Given the description of an element on the screen output the (x, y) to click on. 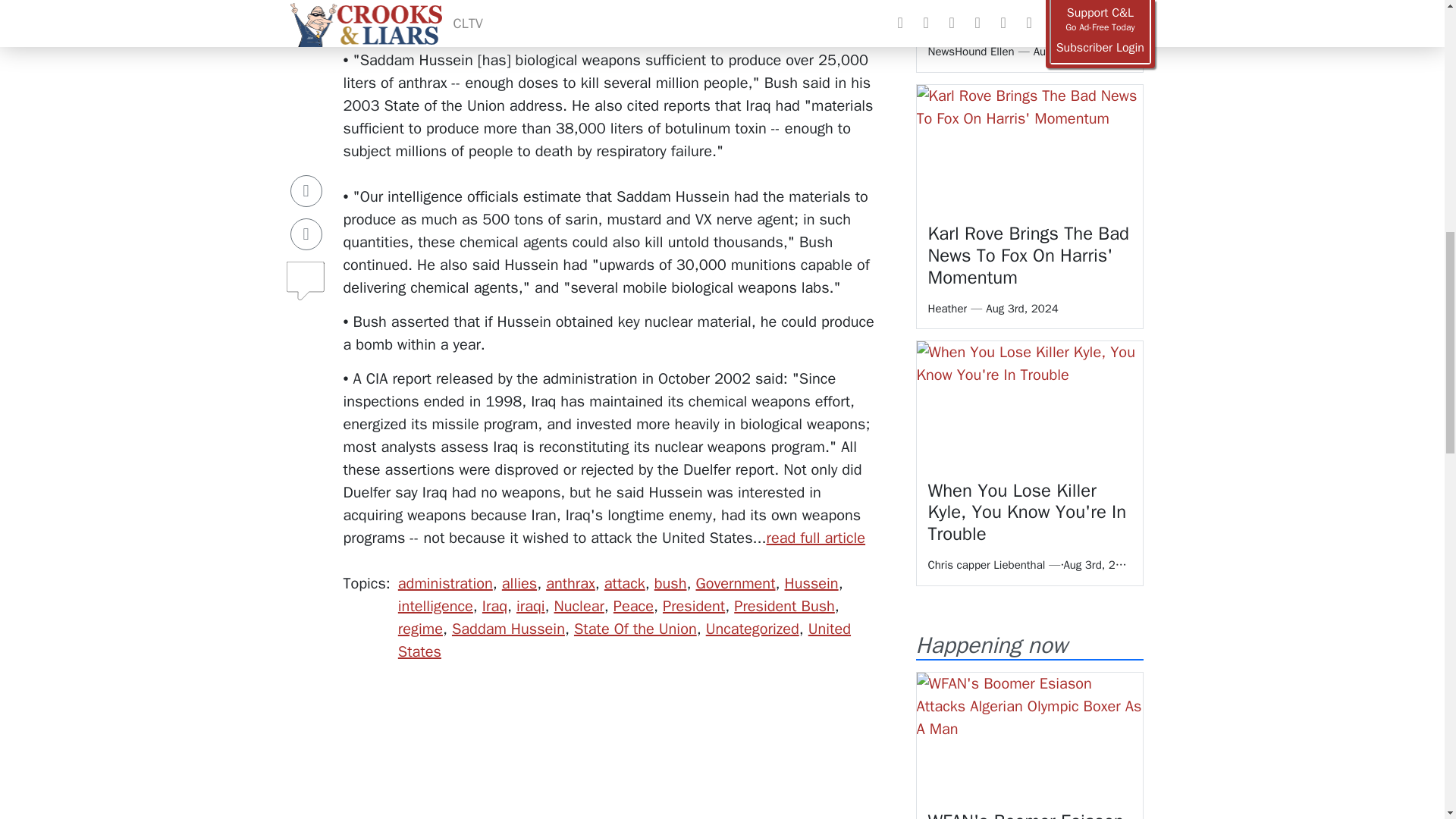
NewsHound Ellen (971, 51)
administration (445, 583)
anthrax (570, 583)
attack (624, 583)
allies (519, 583)
read full article (816, 537)
bush (670, 583)
Hussein (811, 583)
Government (734, 583)
